Given the description of an element on the screen output the (x, y) to click on. 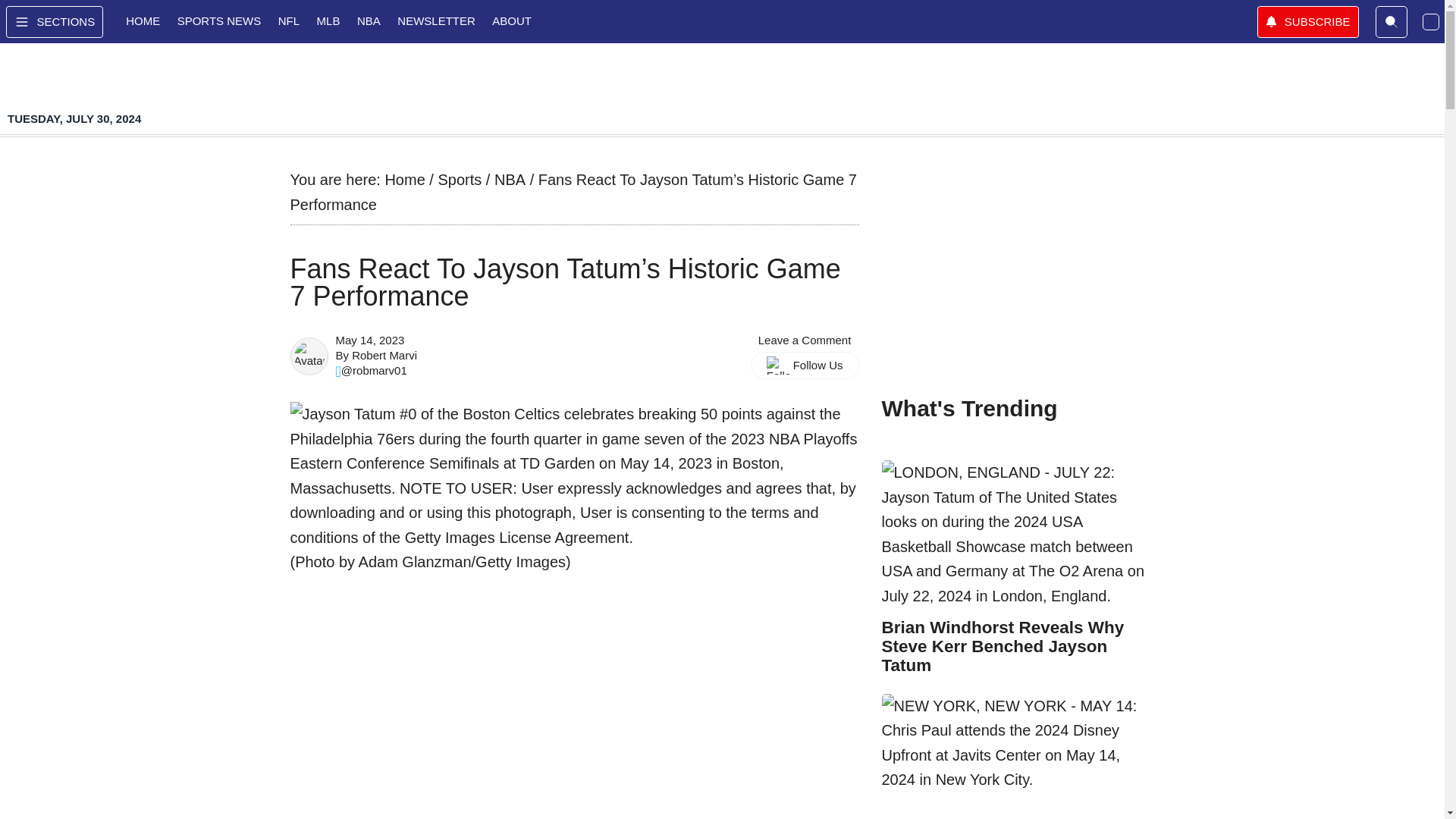
Open Menu (54, 21)
Search (1391, 21)
